Given the description of an element on the screen output the (x, y) to click on. 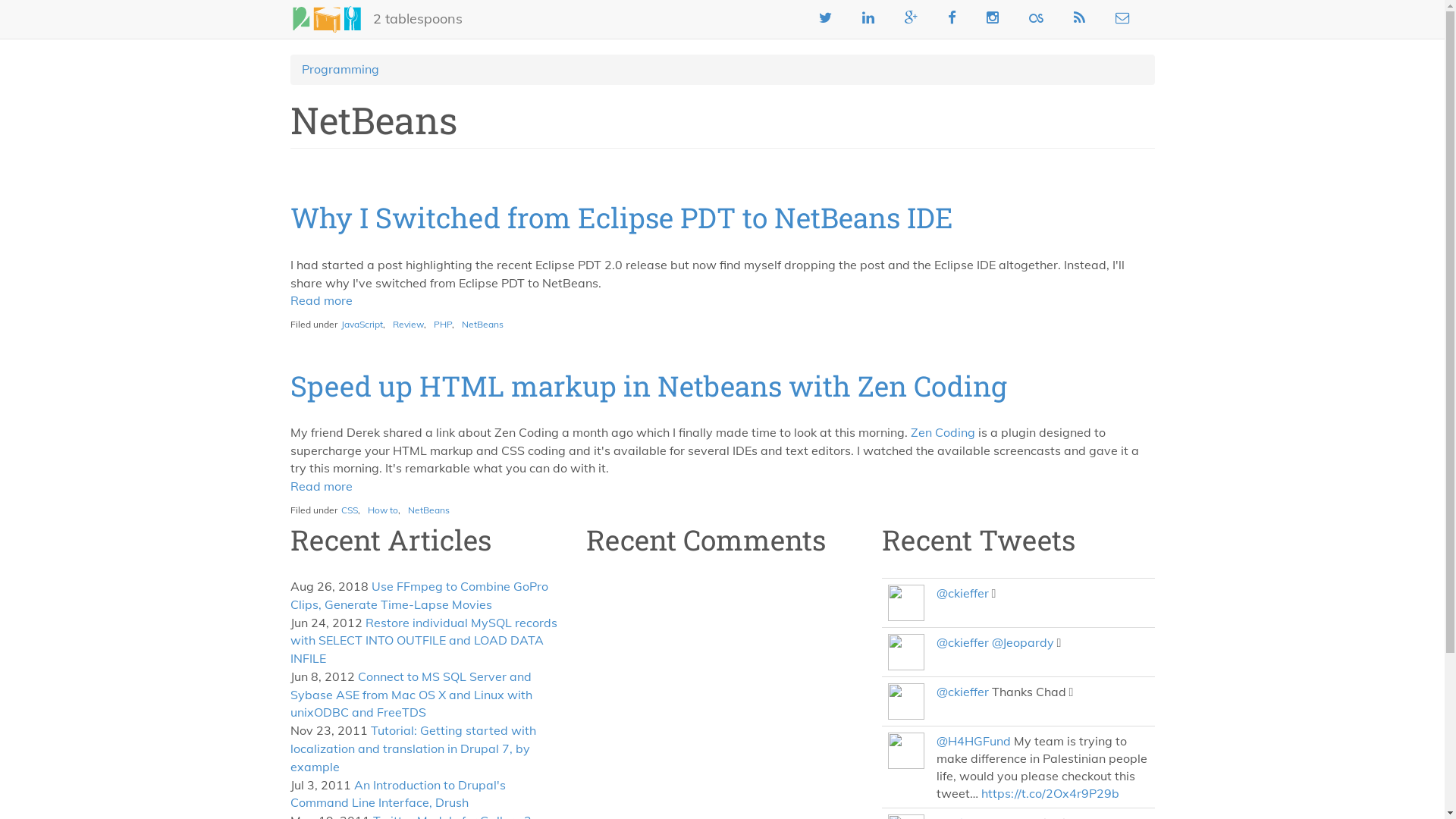
Why I Switched from Eclipse PDT to NetBeans IDE Element type: text (620, 216)
Review Element type: text (407, 323)
Add 2tbsp.com articles to your feed reader Element type: hover (1078, 17)
PHP Element type: text (442, 323)
JavaScript Element type: text (361, 323)
An Introduction to Drupal's Command Line Interface, Drush Element type: text (397, 793)
Connect with me via Facebook Element type: hover (951, 17)
Connect with me via LinkedIn Element type: hover (868, 17)
NetBeans Element type: text (481, 323)
@H4HGFund Element type: text (972, 740)
Programming Element type: text (340, 68)
Things I've seen recently on Instagram Element type: hover (992, 17)
@ckieffer Element type: text (961, 641)
CSS Element type: text (349, 509)
Home Element type: hover (330, 19)
Speed up HTML markup in Netbeans with Zen Coding Element type: text (647, 385)
@ckieffer Element type: text (961, 691)
https://t.co/2Ox4r9P29b Element type: text (1050, 792)
@Jeopardy Element type: text (1022, 641)
How to Element type: text (382, 509)
Zen Coding Element type: text (942, 431)
Connect with me via Twitter Element type: hover (824, 17)
2 tablespoons Element type: text (416, 18)
Skip to main content Element type: text (0, 0)
@ckieffer Element type: text (961, 592)
NetBeans Element type: text (428, 509)
My playlist on Last.fm Element type: hover (1036, 17)
Connect with me via Google+ Element type: hover (910, 17)
Contact me Element type: hover (1122, 17)
